Given the description of an element on the screen output the (x, y) to click on. 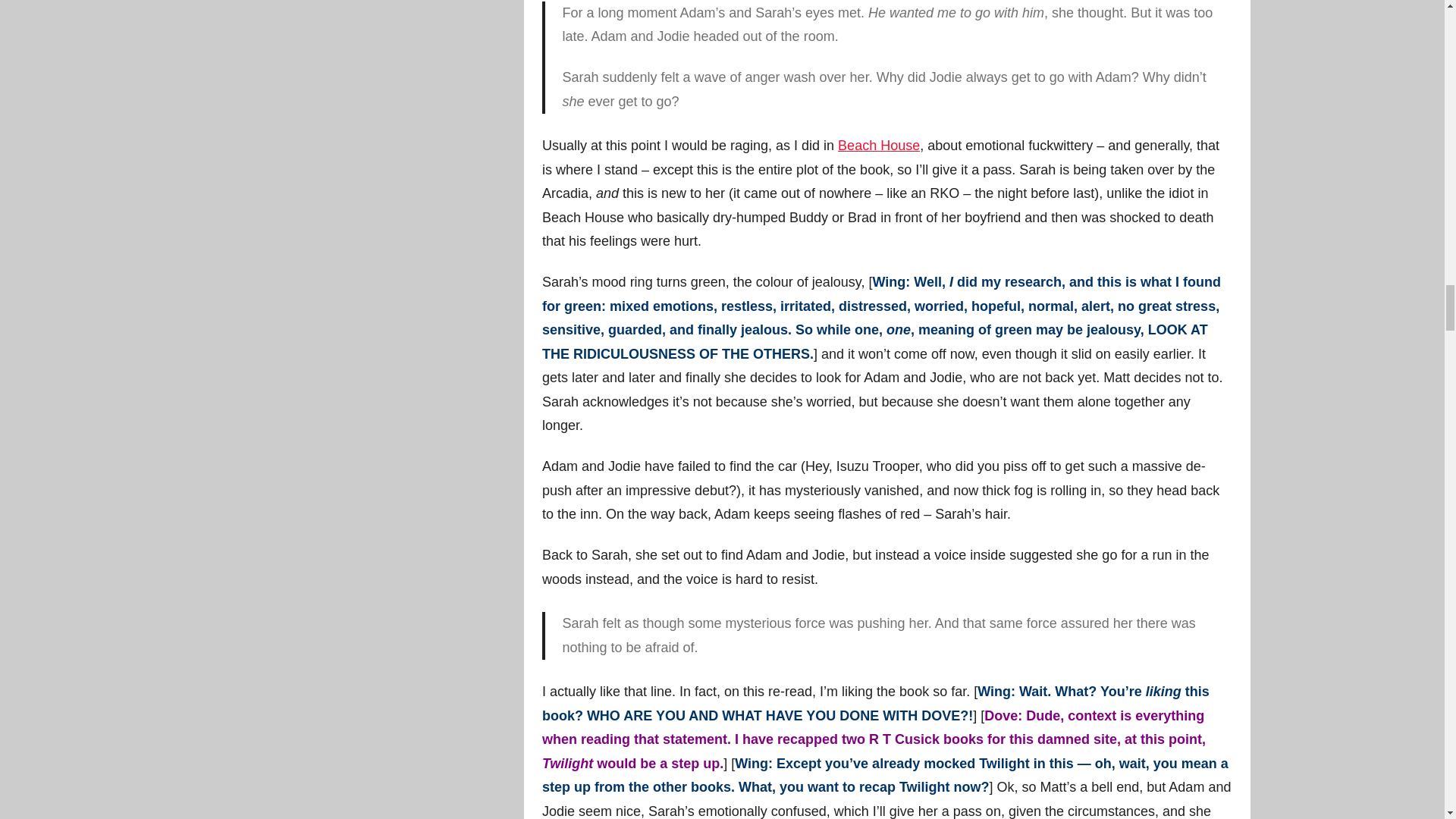
Beach House by R L Stine (879, 145)
Beach House (879, 145)
